Given the description of an element on the screen output the (x, y) to click on. 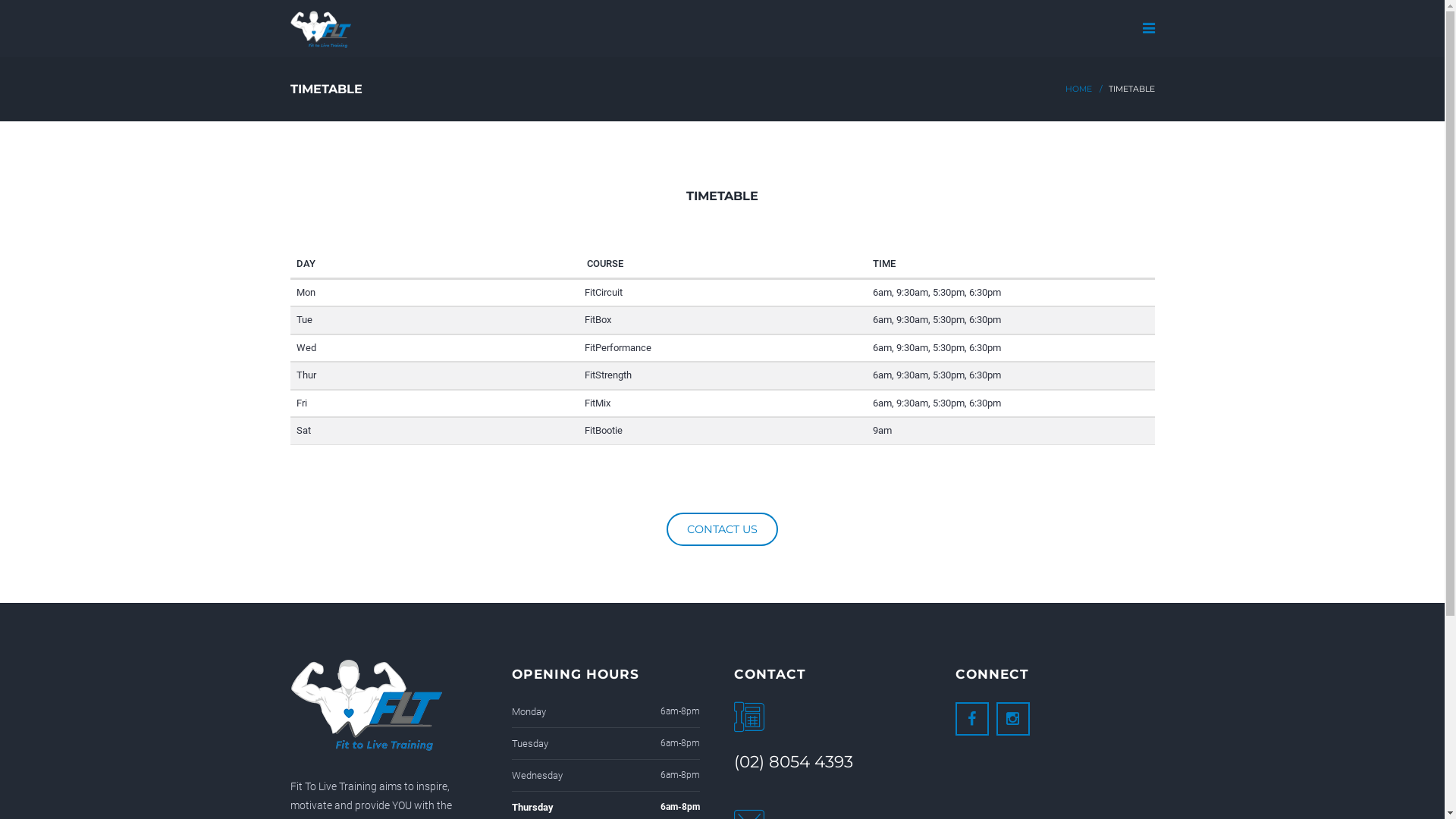
HOME Element type: text (1077, 89)
CONTACT US Element type: text (722, 529)
Facebook Element type: hover (972, 718)
Instagram Element type: hover (1012, 718)
